Given the description of an element on the screen output the (x, y) to click on. 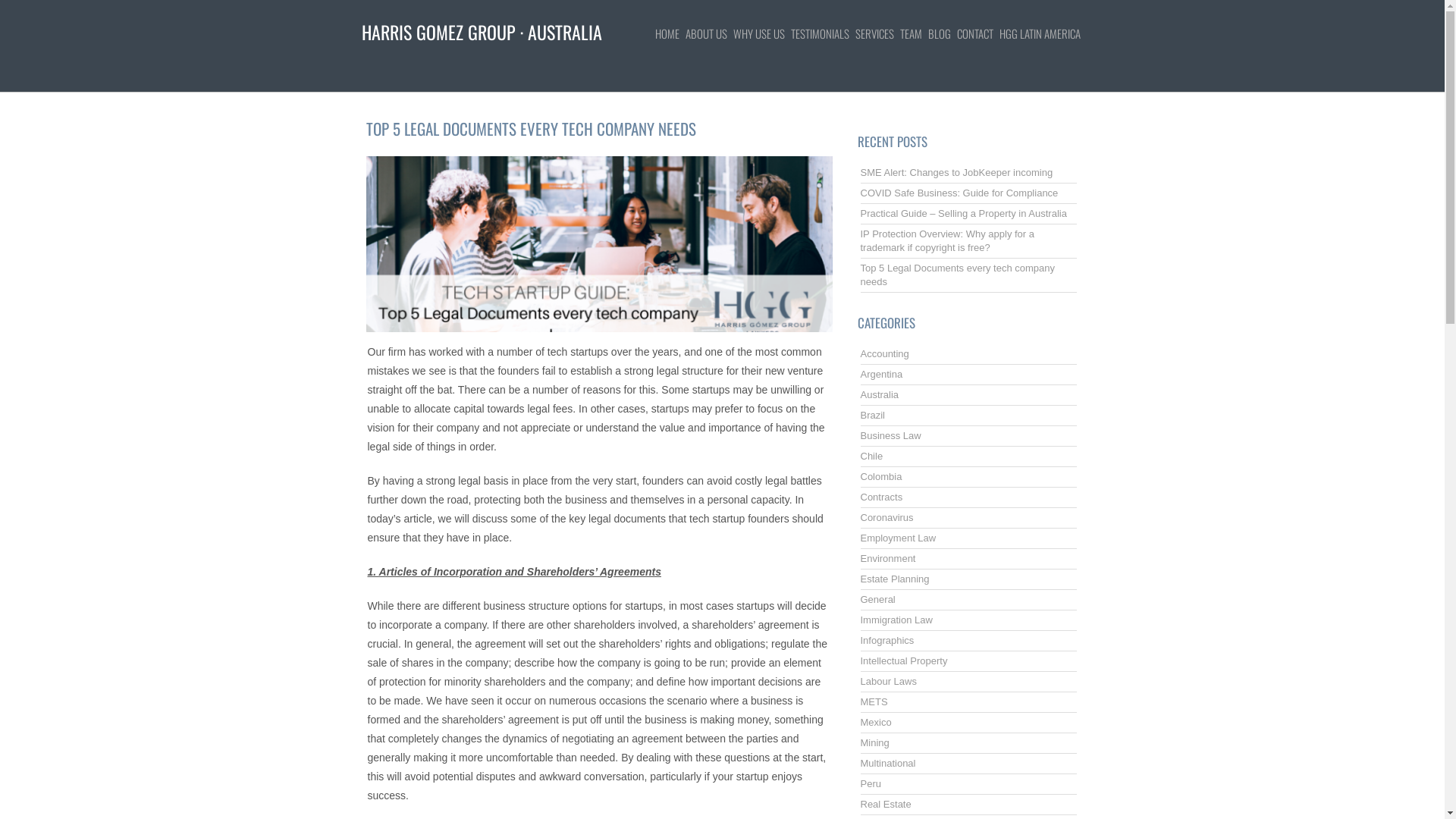
HOME Element type: text (670, 33)
SERVICES Element type: text (877, 33)
General Element type: text (876, 599)
TESTIMONIALS Element type: text (822, 33)
Coronavirus Element type: text (886, 517)
Peru Element type: text (869, 783)
Contracts Element type: text (880, 496)
Multinational Element type: text (887, 762)
Argentina Element type: text (880, 373)
Mining Element type: text (873, 742)
Australia Element type: text (878, 394)
SME Alert: Changes to JobKeeper incoming Element type: text (955, 172)
BLOG Element type: text (942, 33)
METS Element type: text (873, 701)
Chile Element type: text (870, 455)
ABOUT US Element type: text (709, 33)
Employment Law Element type: text (897, 537)
Labour Laws Element type: text (887, 681)
TEAM Element type: text (913, 33)
Mexico Element type: text (875, 722)
Real Estate Element type: text (884, 803)
Environment Element type: text (887, 558)
Colombia Element type: text (880, 476)
HGG LATIN AMERICA Element type: text (1042, 33)
Accounting Element type: text (883, 353)
CONTACT Element type: text (978, 33)
WHY USE US Element type: text (761, 33)
COVID Safe Business: Guide for Compliance Element type: text (958, 192)
Immigration Law Element type: text (895, 619)
Intellectual Property Element type: text (903, 660)
Top 5 Legal Documents every tech company needs Element type: text (956, 274)
Estate Planning Element type: text (893, 578)
Infographics Element type: text (886, 640)
Brazil Element type: text (871, 414)
Business Law Element type: text (889, 435)
